Given the description of an element on the screen output the (x, y) to click on. 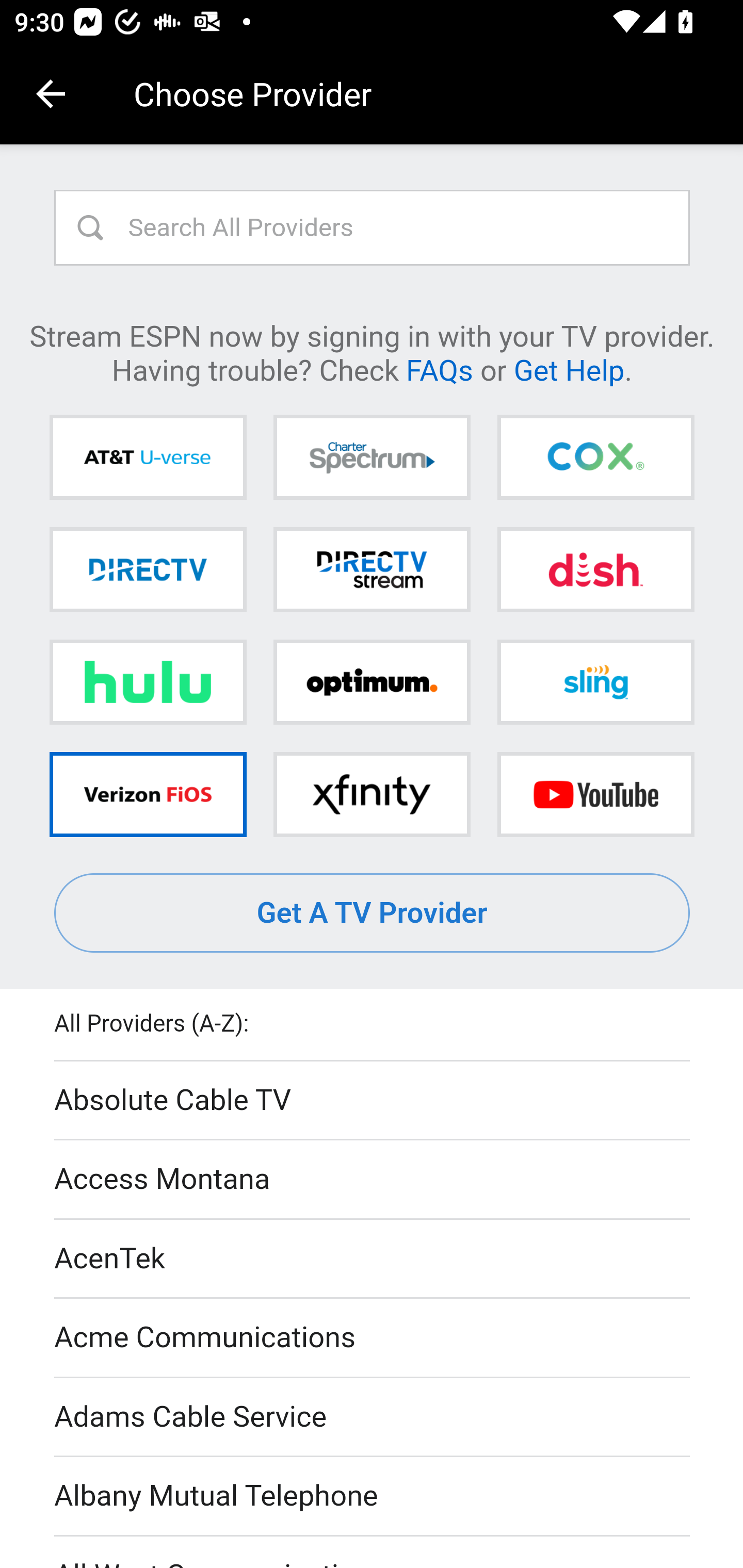
Navigate up (50, 93)
